Given the description of an element on the screen output the (x, y) to click on. 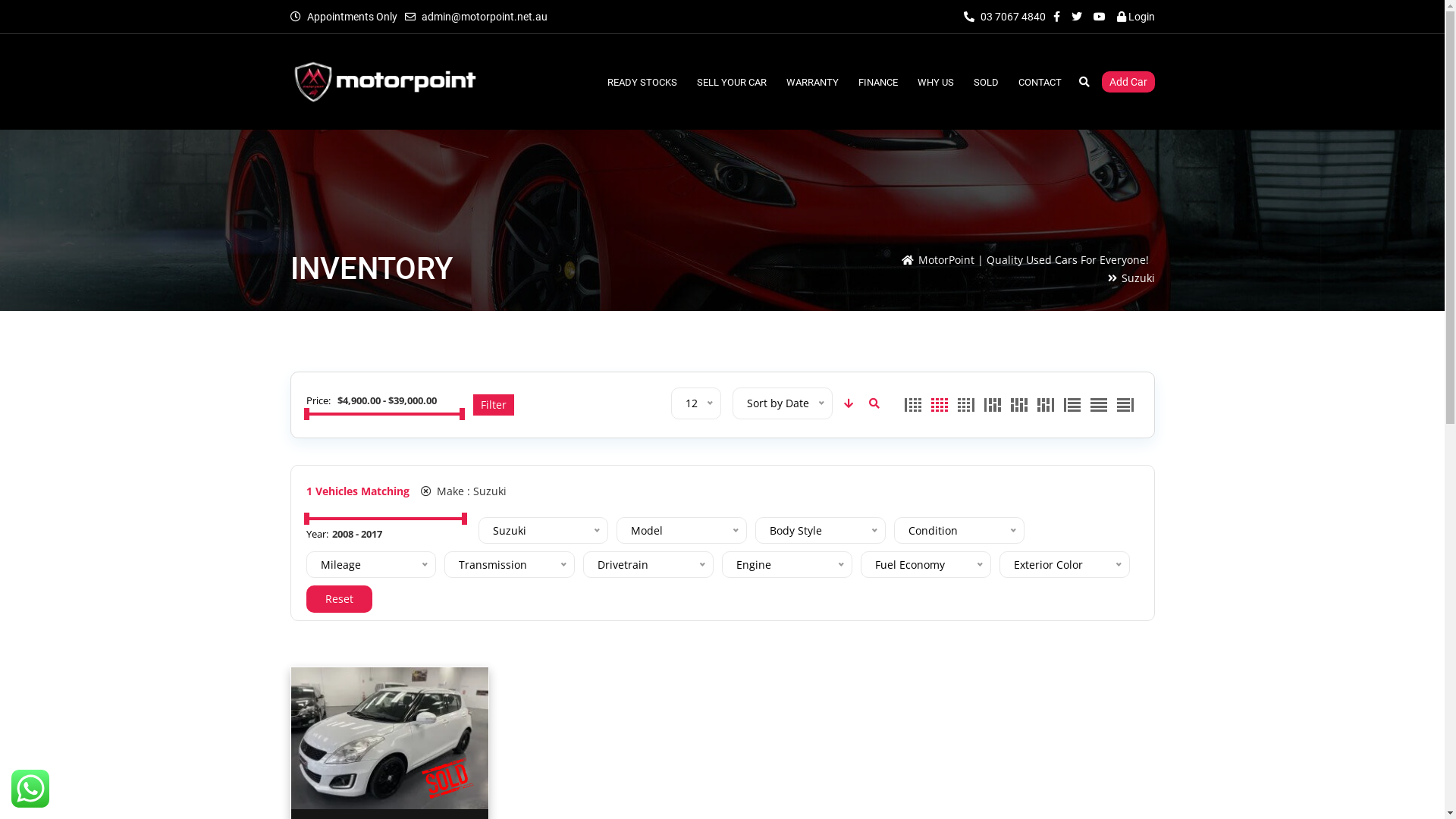
Reset Element type: text (339, 598)
Make : Suzuki Element type: text (462, 490)
03 7067 4840 Element type: text (1003, 16)
MotorPoint | Quality Used Cars For Everyone! Element type: text (1032, 259)
Login Element type: text (1135, 16)
Filter Element type: text (493, 404)
Add Car Element type: text (1127, 81)
admin@motorpoint.net.au Element type: text (484, 16)
